Given the description of an element on the screen output the (x, y) to click on. 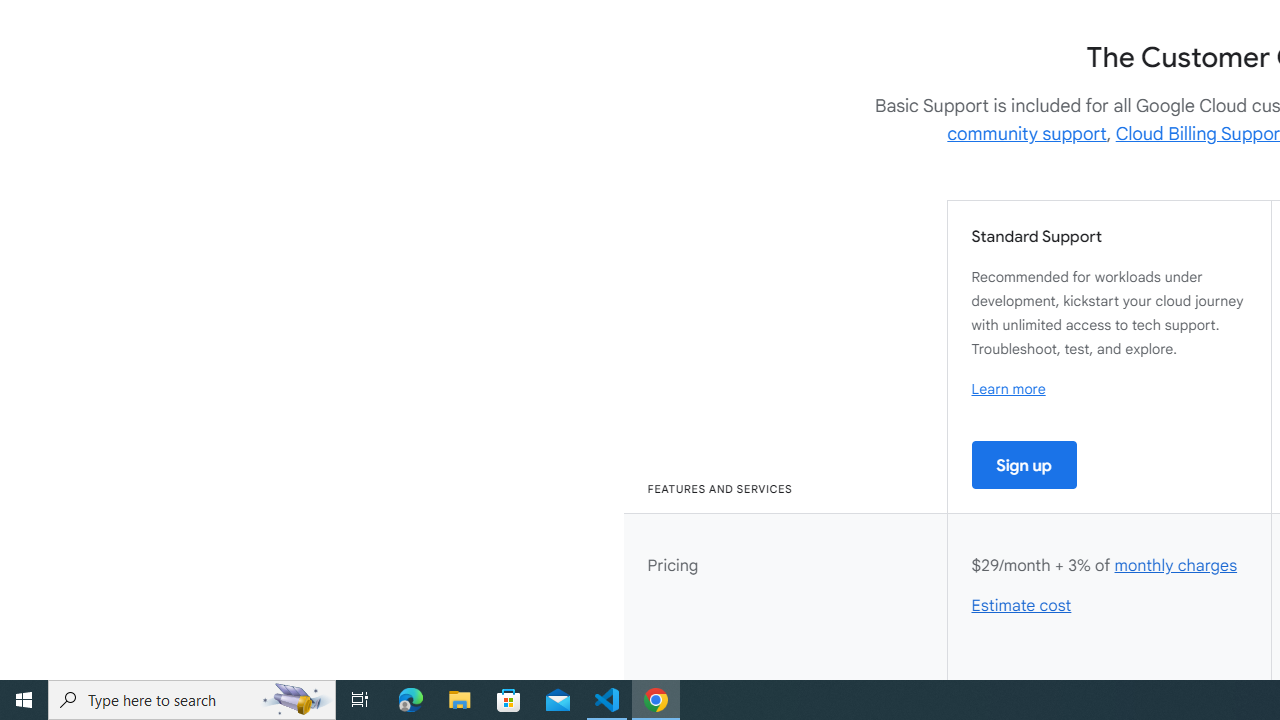
monthly charges (1175, 565)
Estimate cost (1021, 606)
Sign up (1023, 464)
community support (1027, 133)
Learn more (1008, 389)
